Given the description of an element on the screen output the (x, y) to click on. 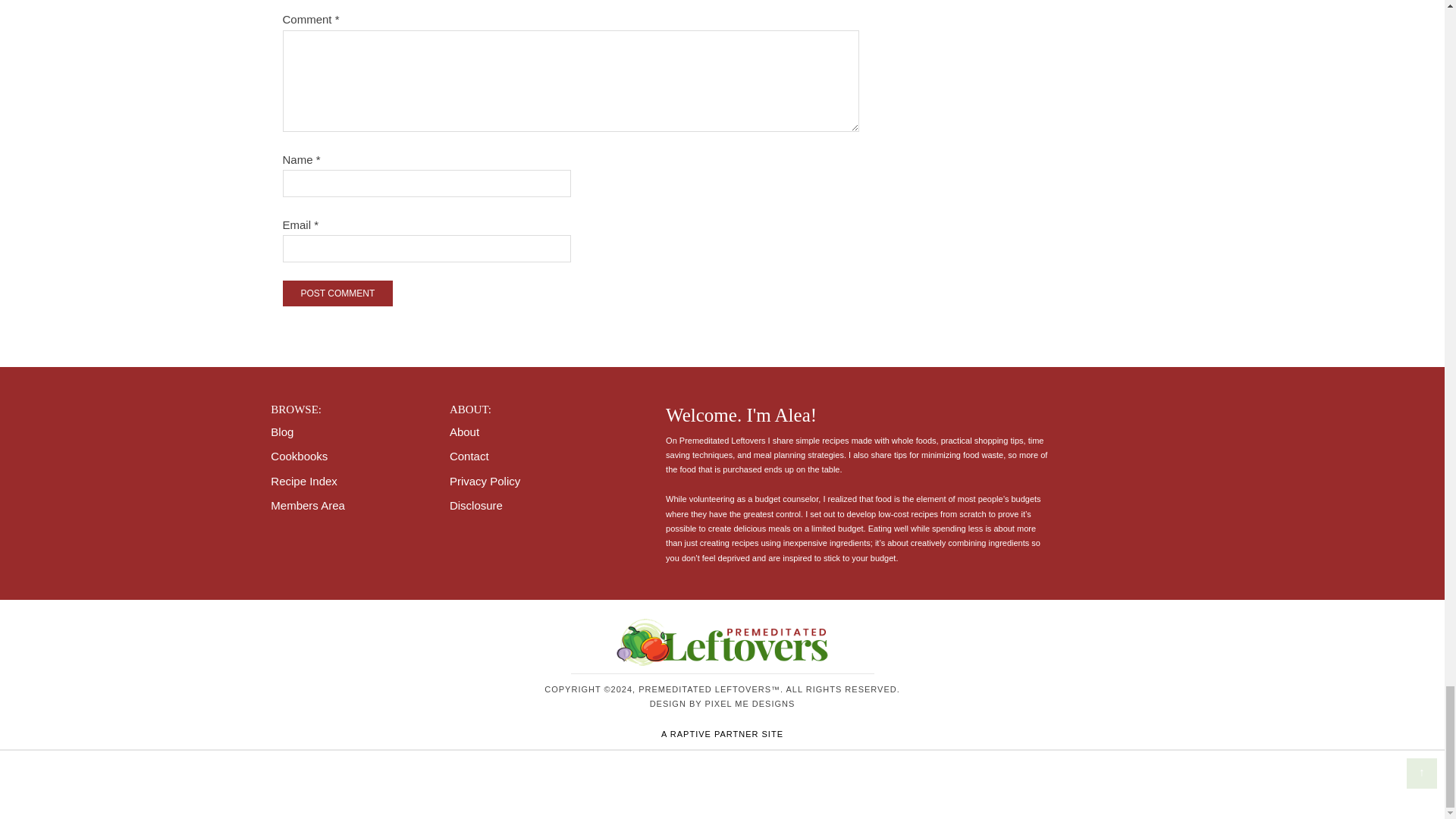
Post Comment (337, 293)
